Given the description of an element on the screen output the (x, y) to click on. 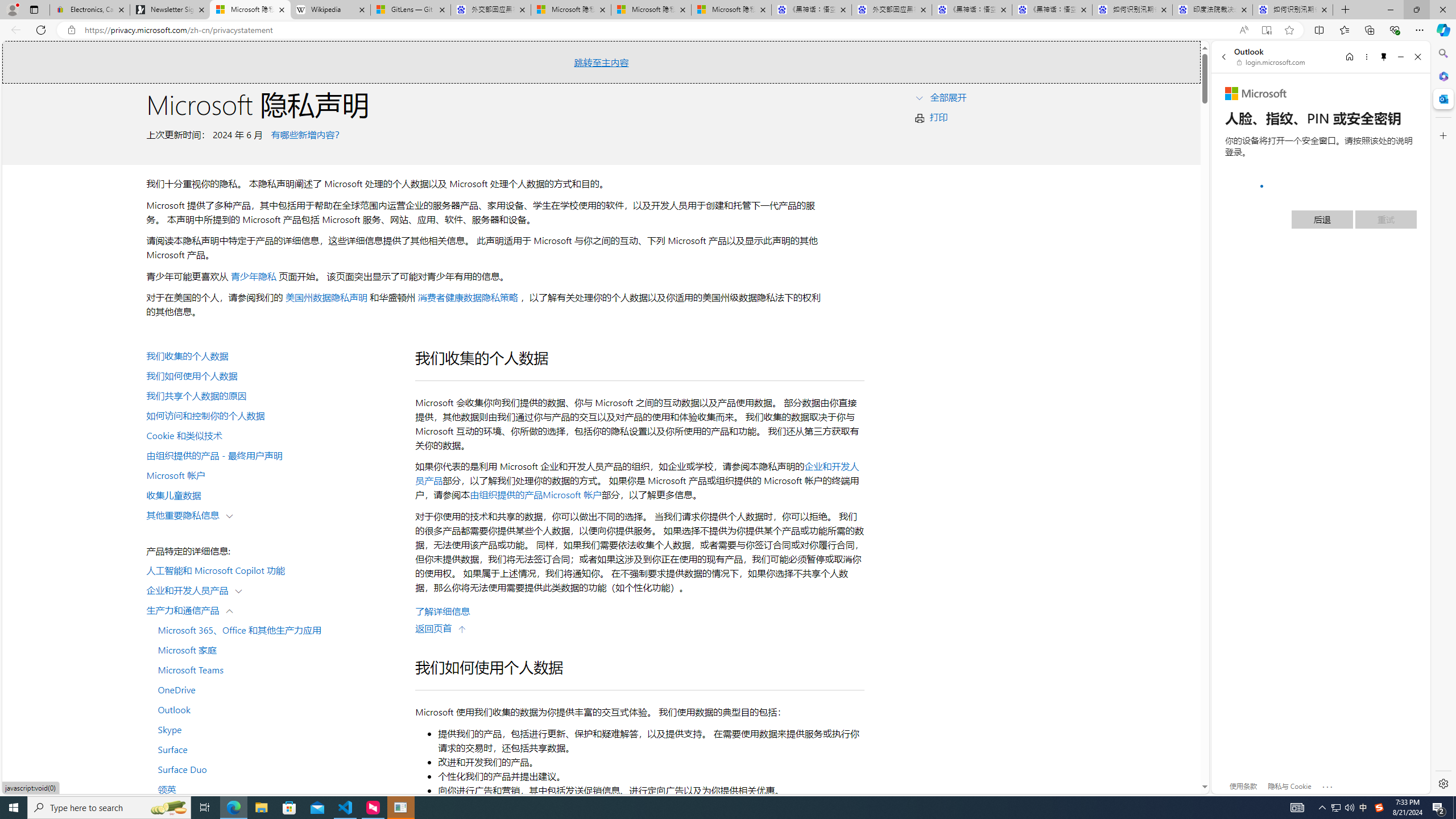
Surface Duo (274, 768)
Surface (274, 749)
